Given the description of an element on the screen output the (x, y) to click on. 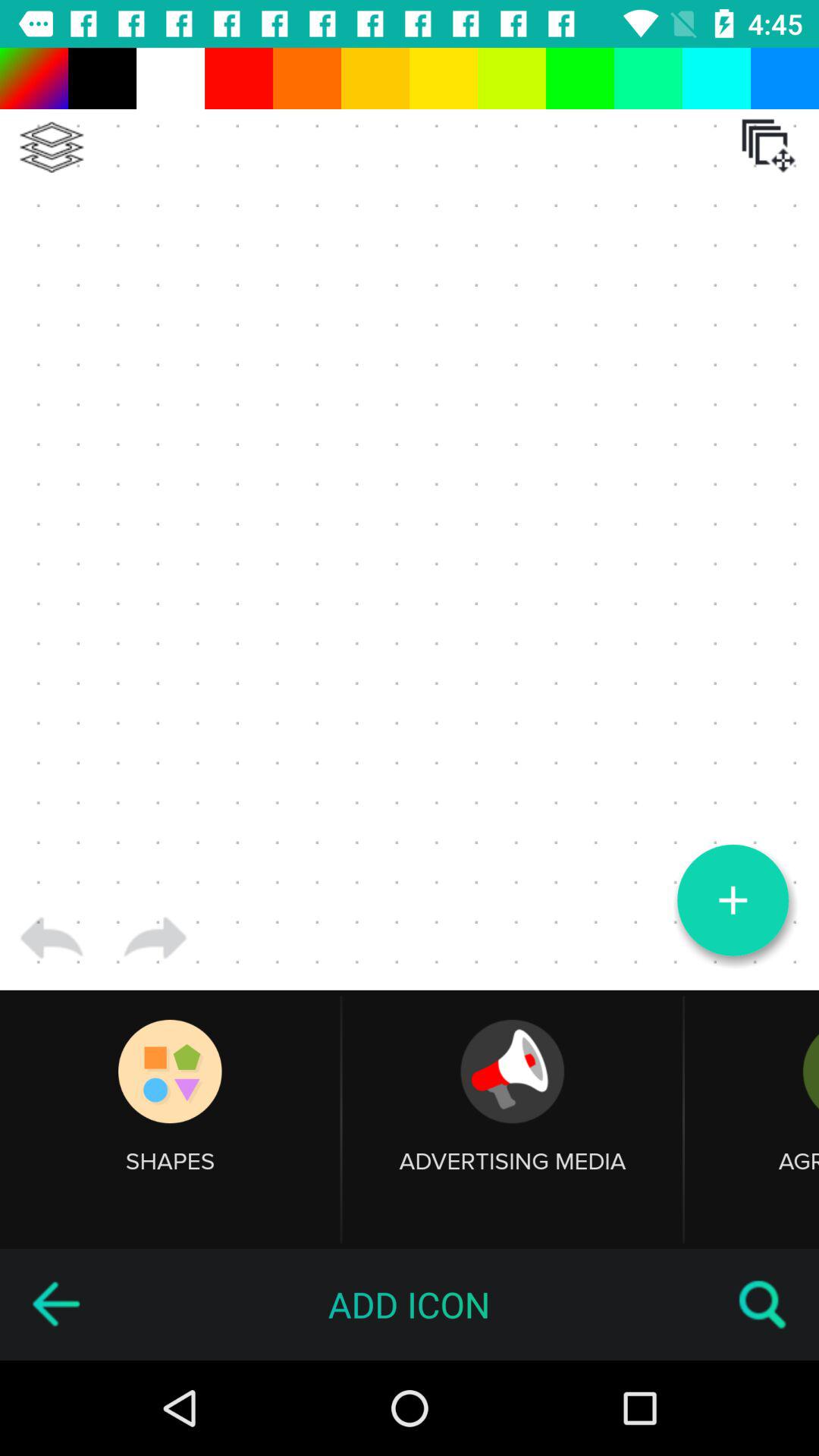
add button (733, 900)
